Given the description of an element on the screen output the (x, y) to click on. 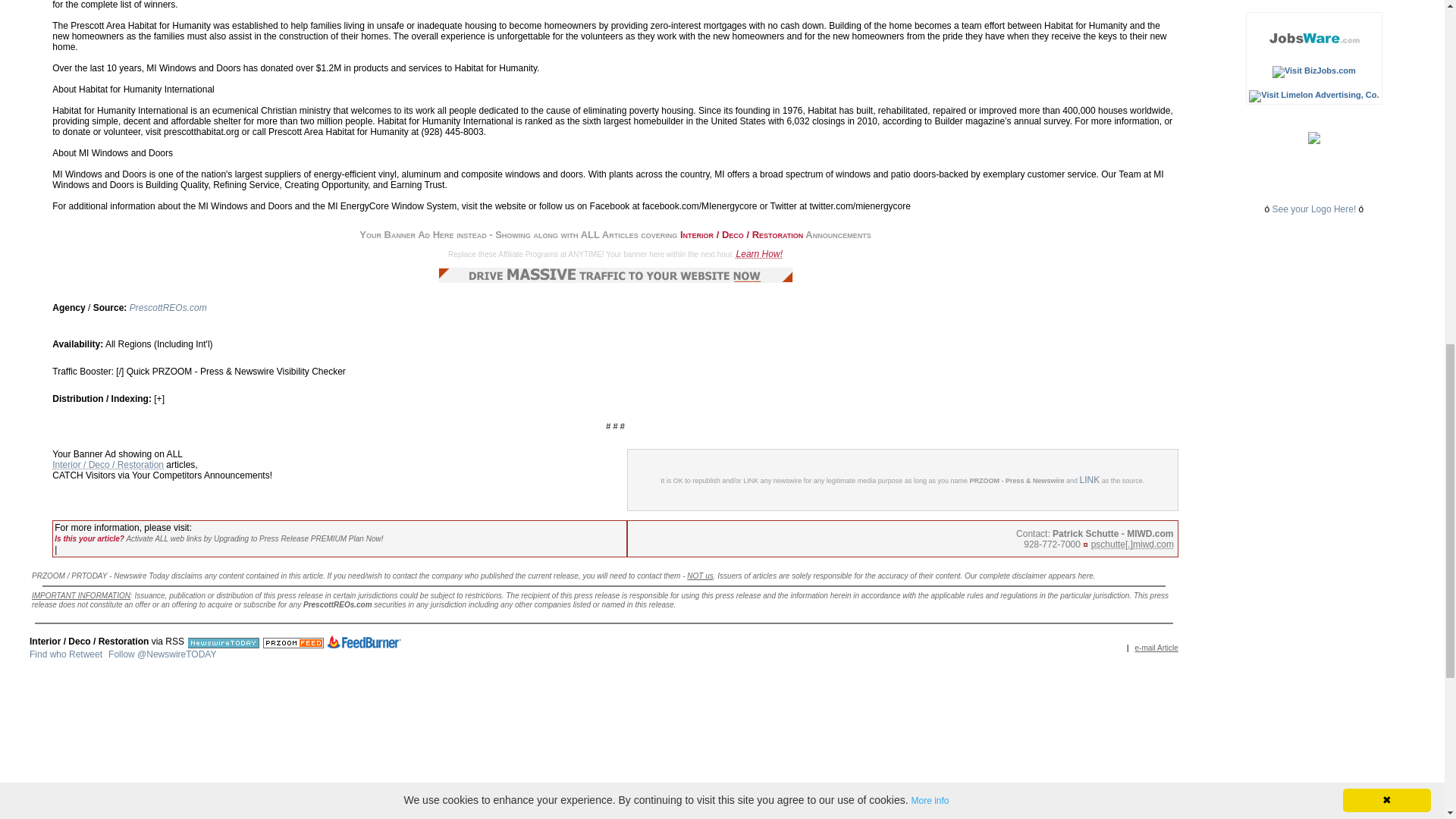
LINK (1090, 480)
here (1085, 575)
PrescottREOs.com (167, 307)
Find who Retweet (65, 654)
Learn How! (759, 253)
